Given the description of an element on the screen output the (x, y) to click on. 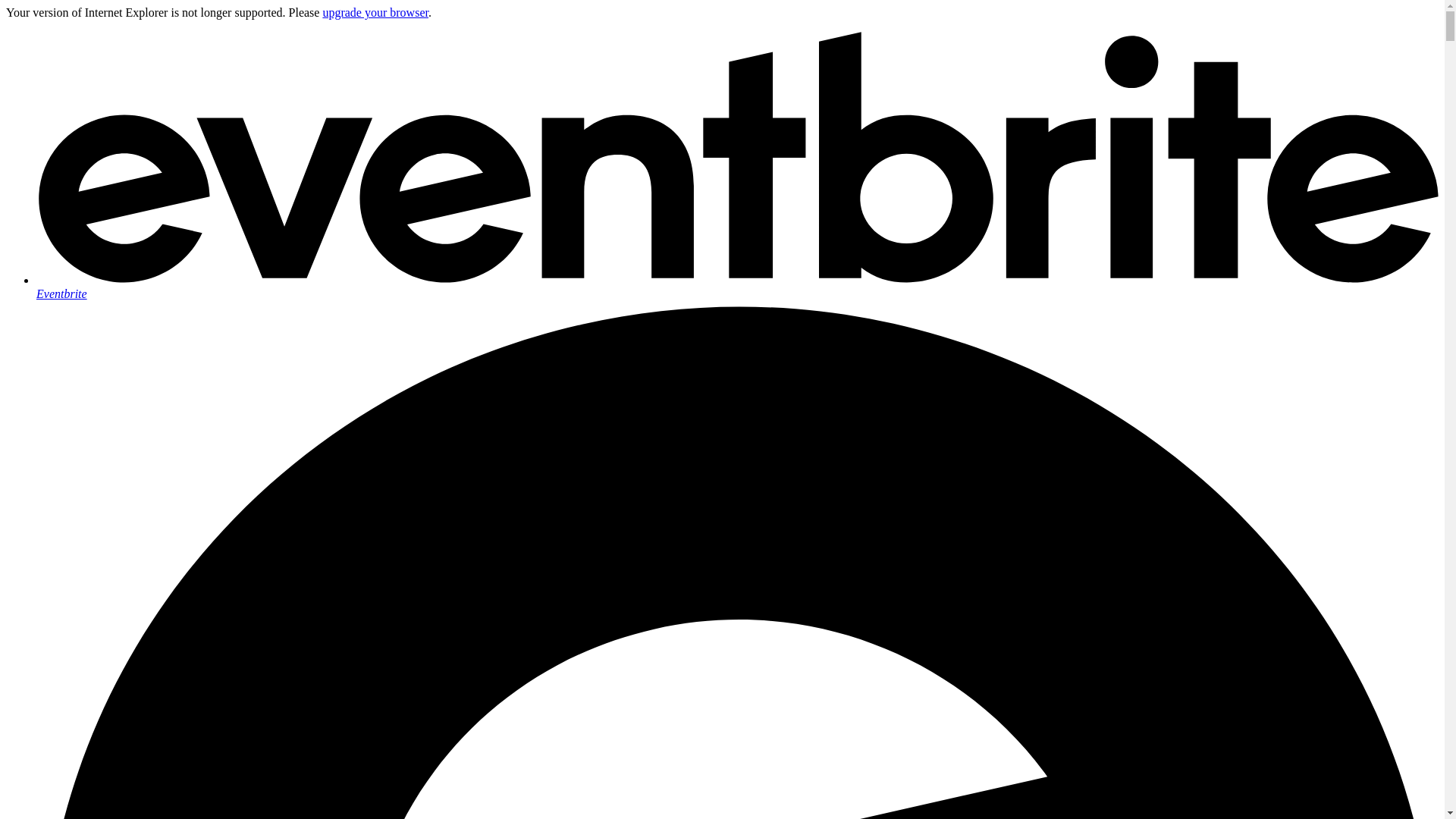
Eventbrite Element type: text (737, 286)
upgrade your browser Element type: text (375, 12)
